Given the description of an element on the screen output the (x, y) to click on. 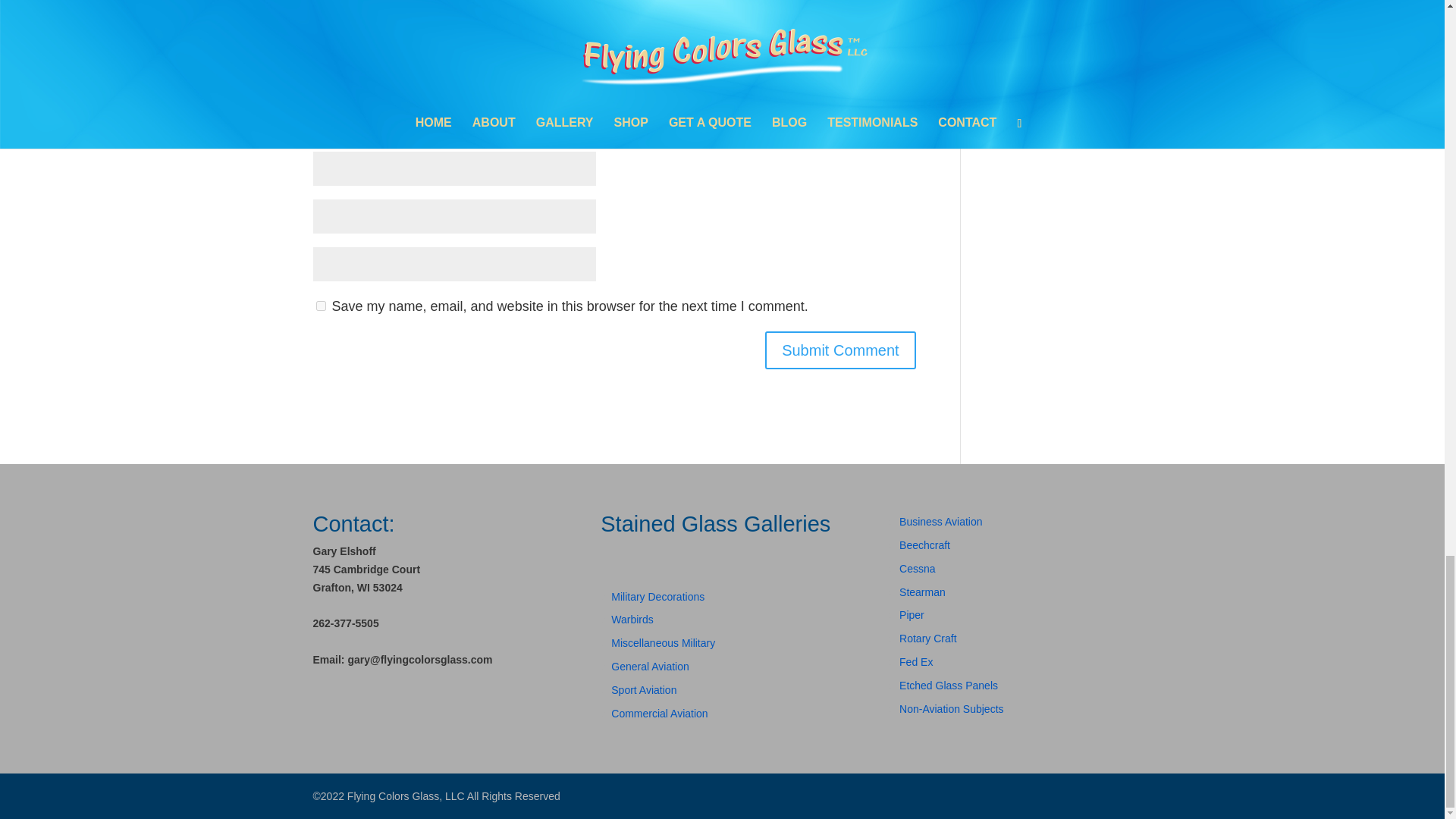
Submit Comment (840, 350)
yes (319, 306)
Submit Comment (840, 350)
